Given the description of an element on the screen output the (x, y) to click on. 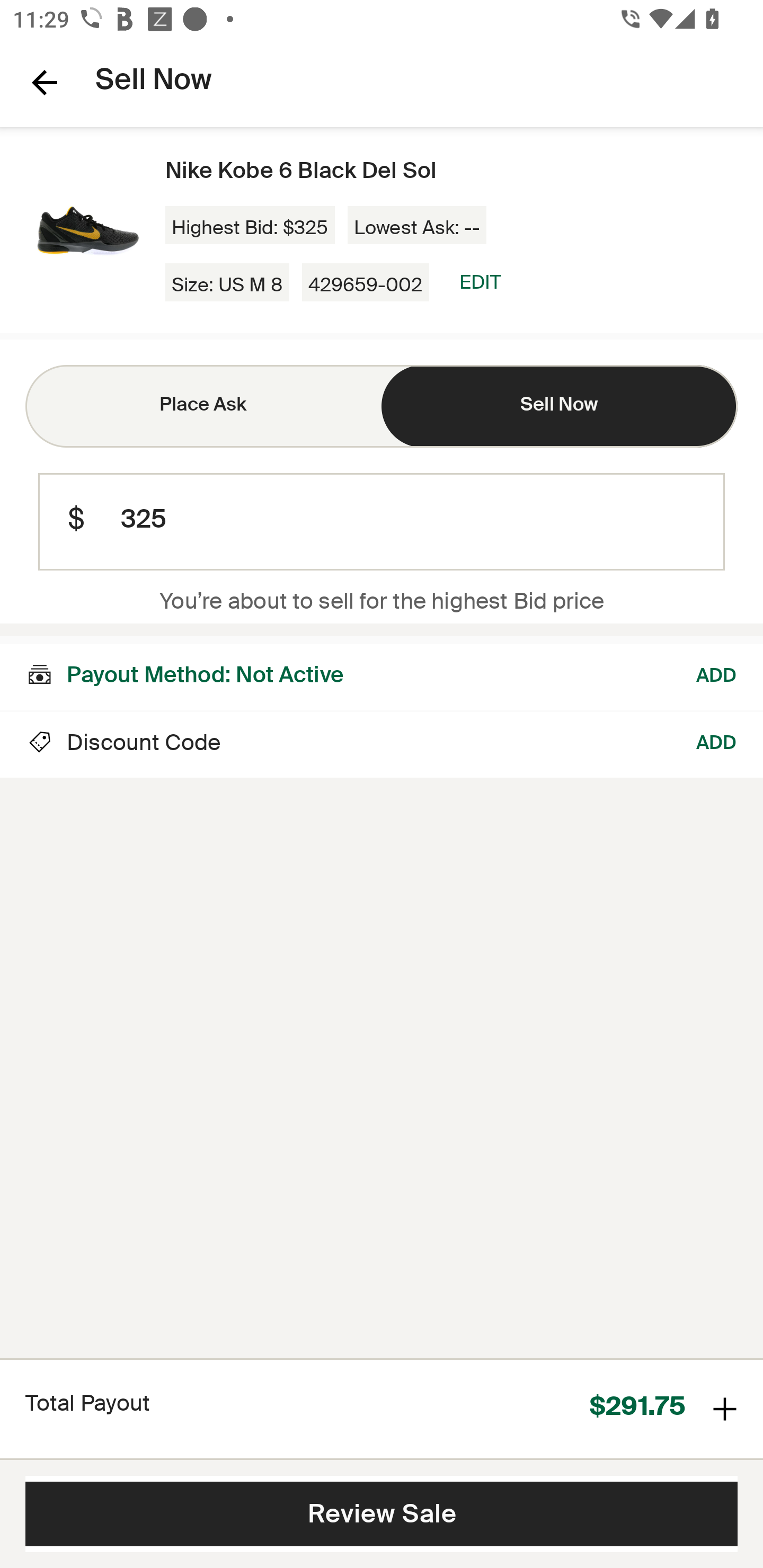
EDIT (479, 281)
Place Ask (203, 405)
Sell Now (559, 405)
325 $ (381, 521)
ADD (717, 673)
Discount icon Discount Code (123, 744)
ADD (717, 744)
Total Payout $291.75 Total Payout plus icon (381, 1407)
reviewButtonContentDescriptionID Review Sale (381, 1513)
